Given the description of an element on the screen output the (x, y) to click on. 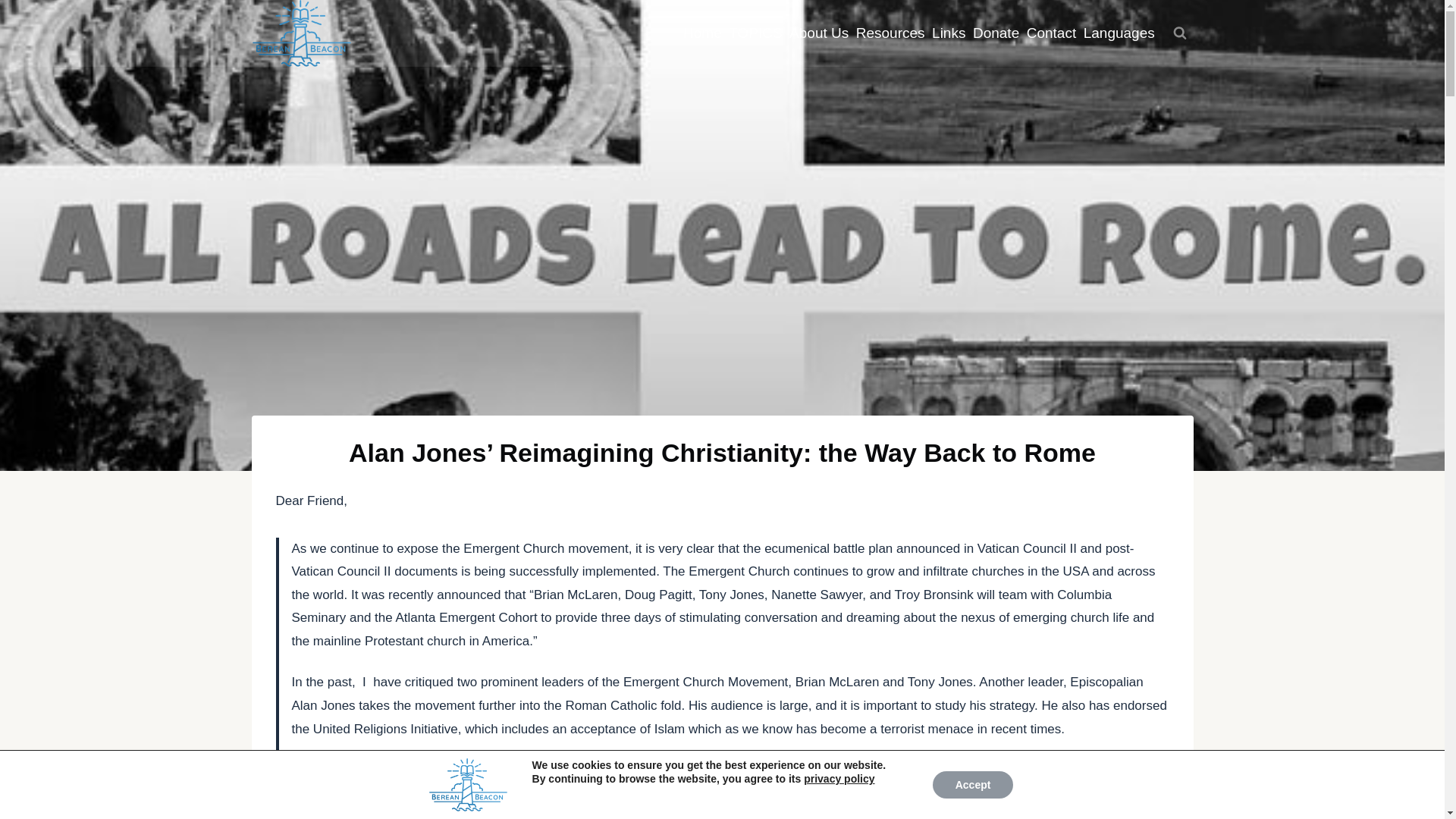
Accept (973, 784)
Contact (1051, 33)
privacy policy (839, 778)
Links (948, 33)
Languages (1119, 33)
Home (702, 33)
Resources (889, 33)
Donate (996, 33)
About Us (818, 33)
TOPICS (755, 33)
